Given the description of an element on the screen output the (x, y) to click on. 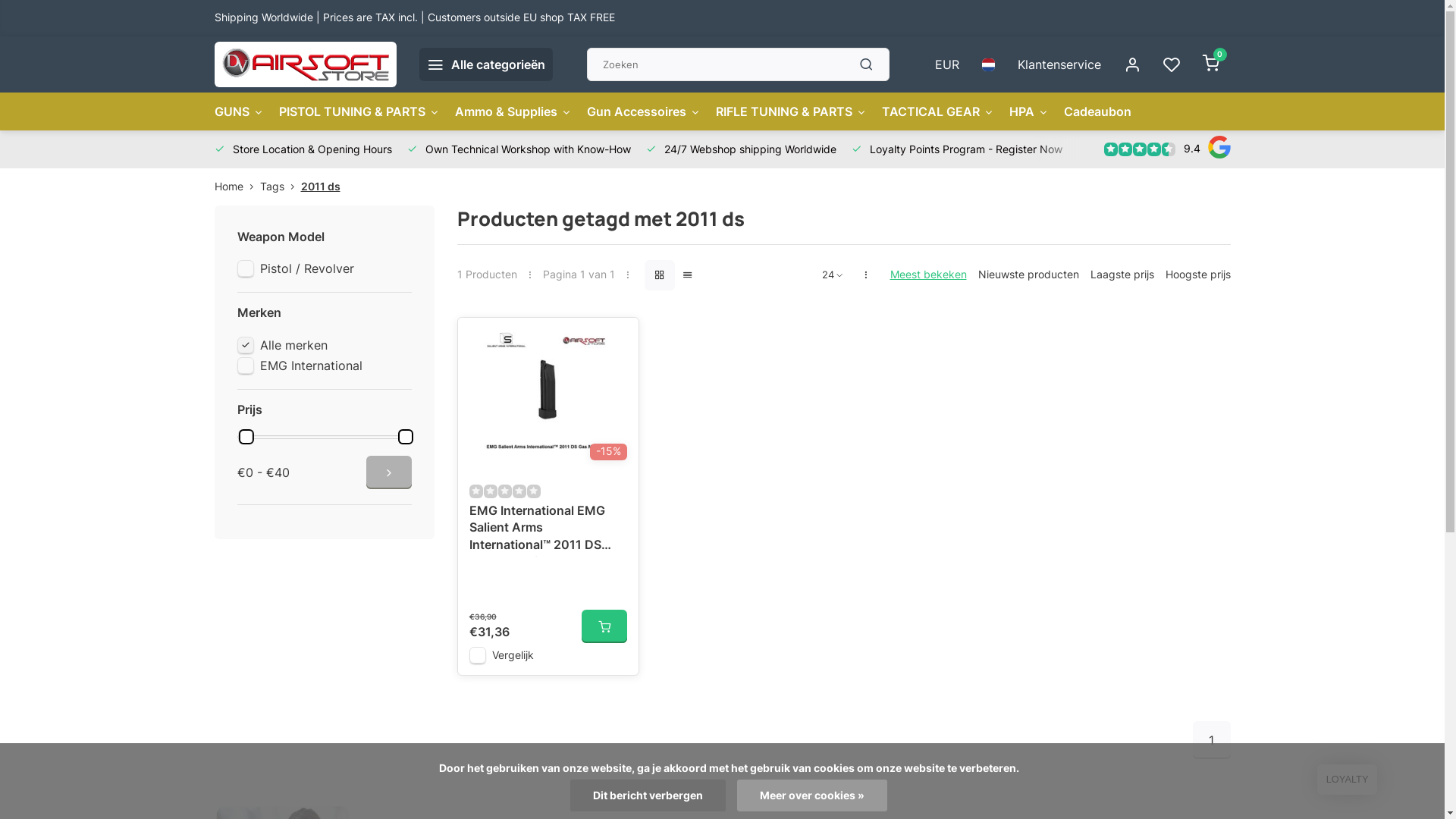
Toevoegen aan winkelwagen Element type: hover (604, 626)
Dit bericht verbergen Element type: text (647, 795)
LOYALTY Element type: text (1347, 779)
Tags Element type: text (279, 186)
Own Technical Workshop with Know-How Element type: text (518, 149)
Home Element type: text (236, 186)
2011 ds Element type: text (319, 186)
1 Element type: text (1211, 740)
Store Location & Opening Hours Element type: text (302, 149)
Cadeaubon Element type: text (1096, 111)
Klantenservice Element type: text (1058, 64)
Gun Accessoires Element type: text (643, 111)
Airsoft Store Element type: hover (304, 64)
RIFLE TUNING & PARTS Element type: text (790, 111)
Loyalty Points Program - Register Now Element type: text (955, 149)
Ammo & Supplies Element type: text (513, 111)
24/7 Webshop shipping Worldwide Element type: text (741, 149)
TACTICAL GEAR Element type: text (937, 111)
GUNS Element type: text (238, 111)
HPA Element type: text (1028, 111)
PISTOL TUNING & PARTS Element type: text (359, 111)
0 Element type: text (1210, 64)
